Given the description of an element on the screen output the (x, y) to click on. 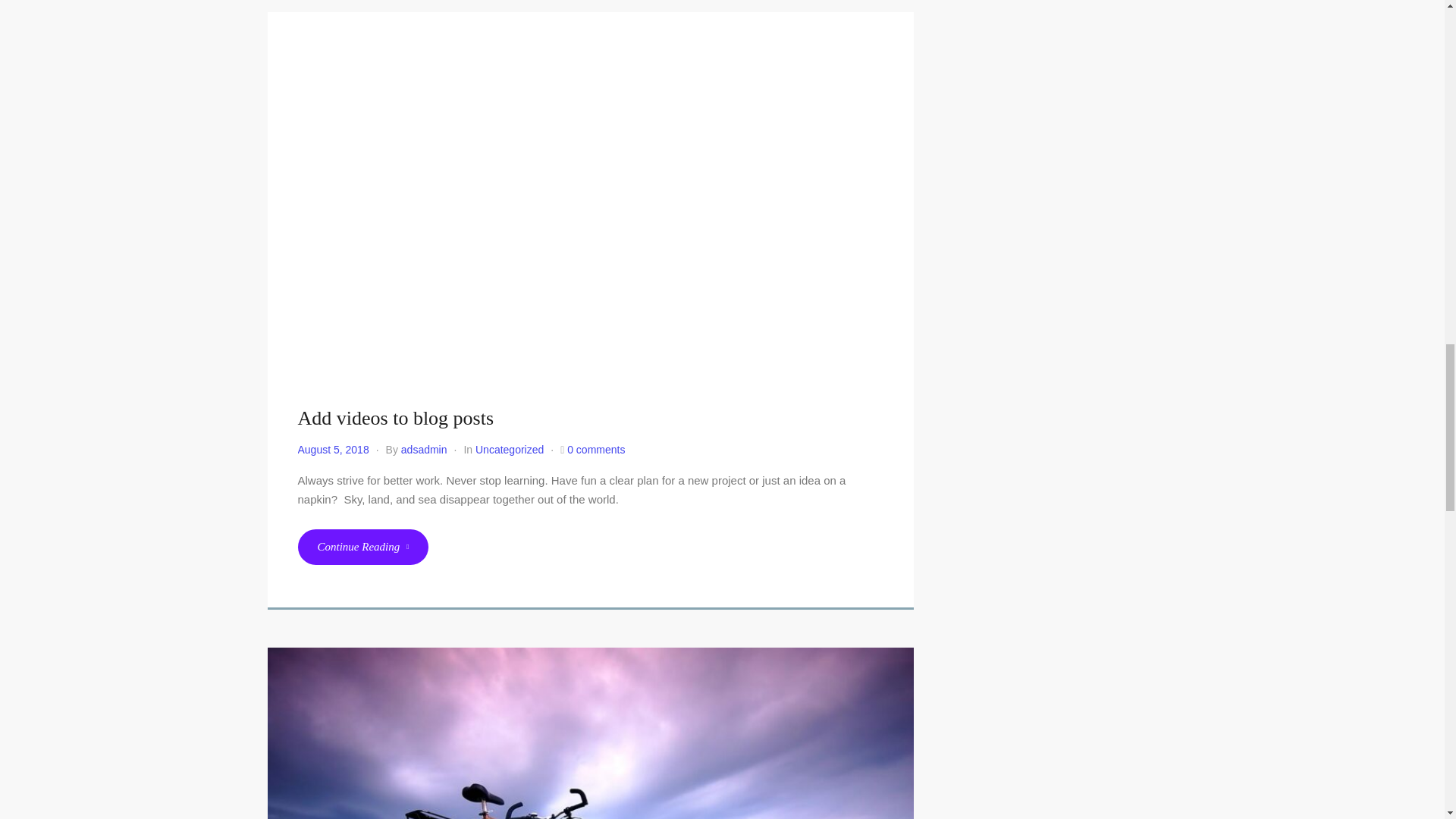
adsadmin (423, 449)
Add videos to blog posts (395, 418)
August 5, 2018 (332, 449)
